Given the description of an element on the screen output the (x, y) to click on. 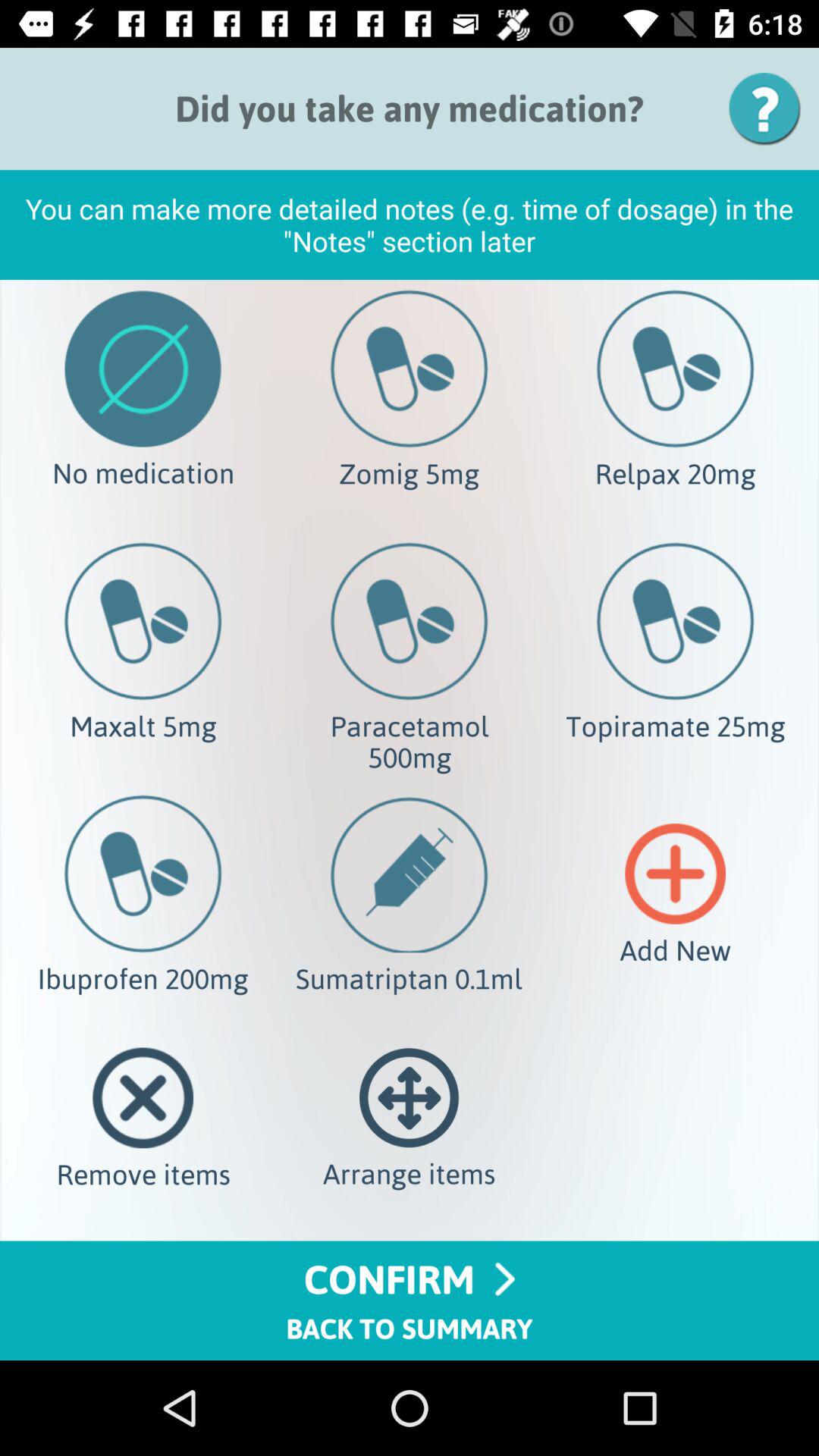
turn off the icon to the right of the did you take app (769, 108)
